Given the description of an element on the screen output the (x, y) to click on. 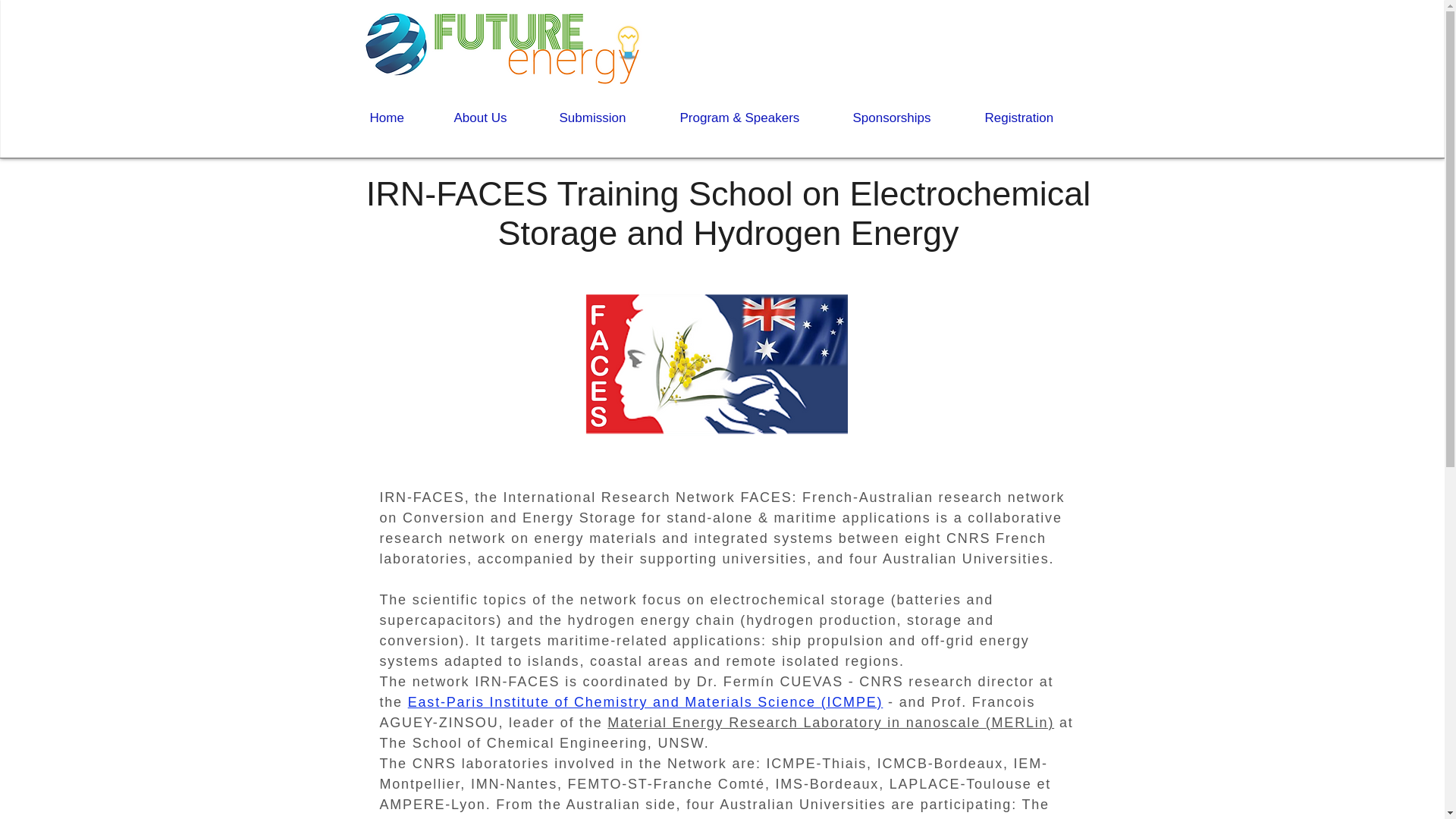
Registration (1035, 117)
About Us (494, 117)
Home (399, 117)
Sponsorships (906, 117)
Submission (606, 117)
